Given the description of an element on the screen output the (x, y) to click on. 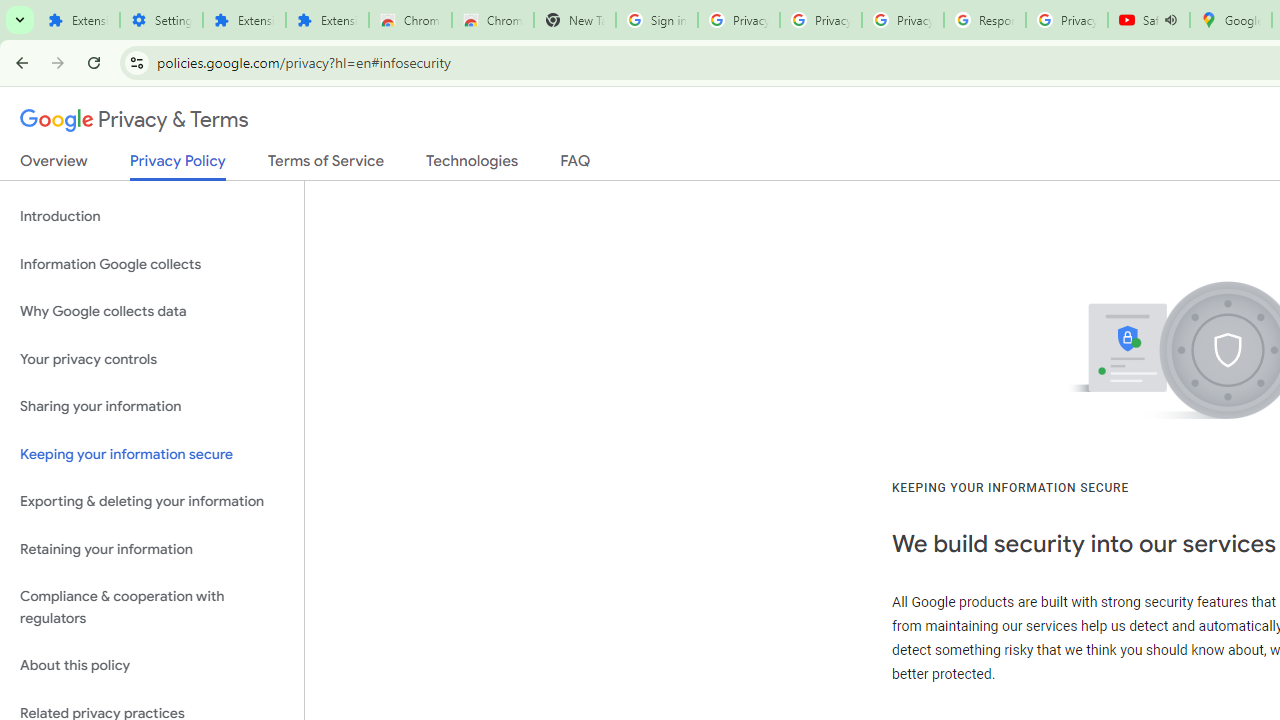
Chrome Web Store (409, 20)
Keeping your information secure (152, 453)
New Tab (574, 20)
Retaining your information (152, 548)
Compliance & cooperation with regulators (152, 607)
Exporting & deleting your information (152, 502)
